Given the description of an element on the screen output the (x, y) to click on. 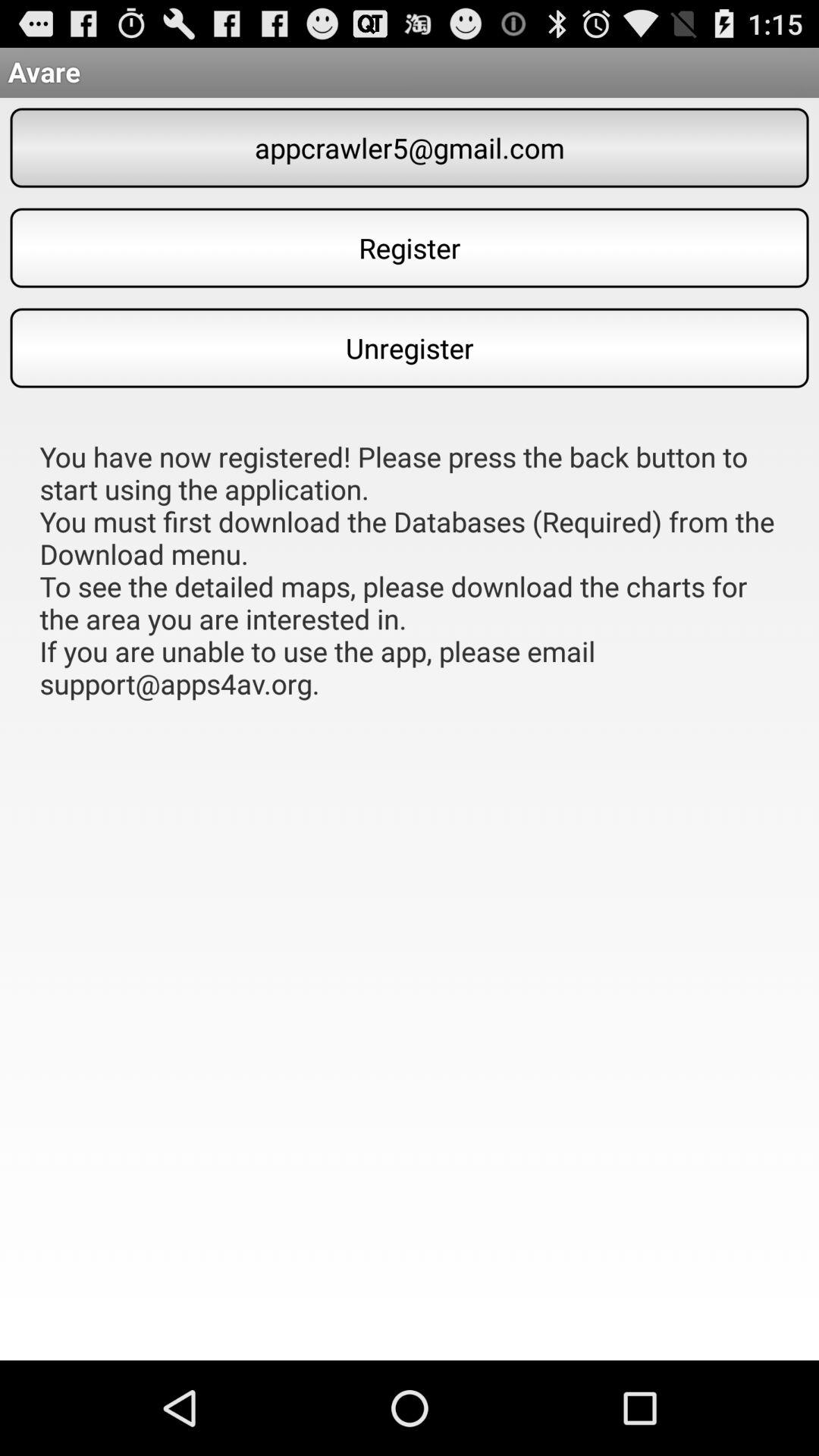
press unregister button (409, 347)
